Given the description of an element on the screen output the (x, y) to click on. 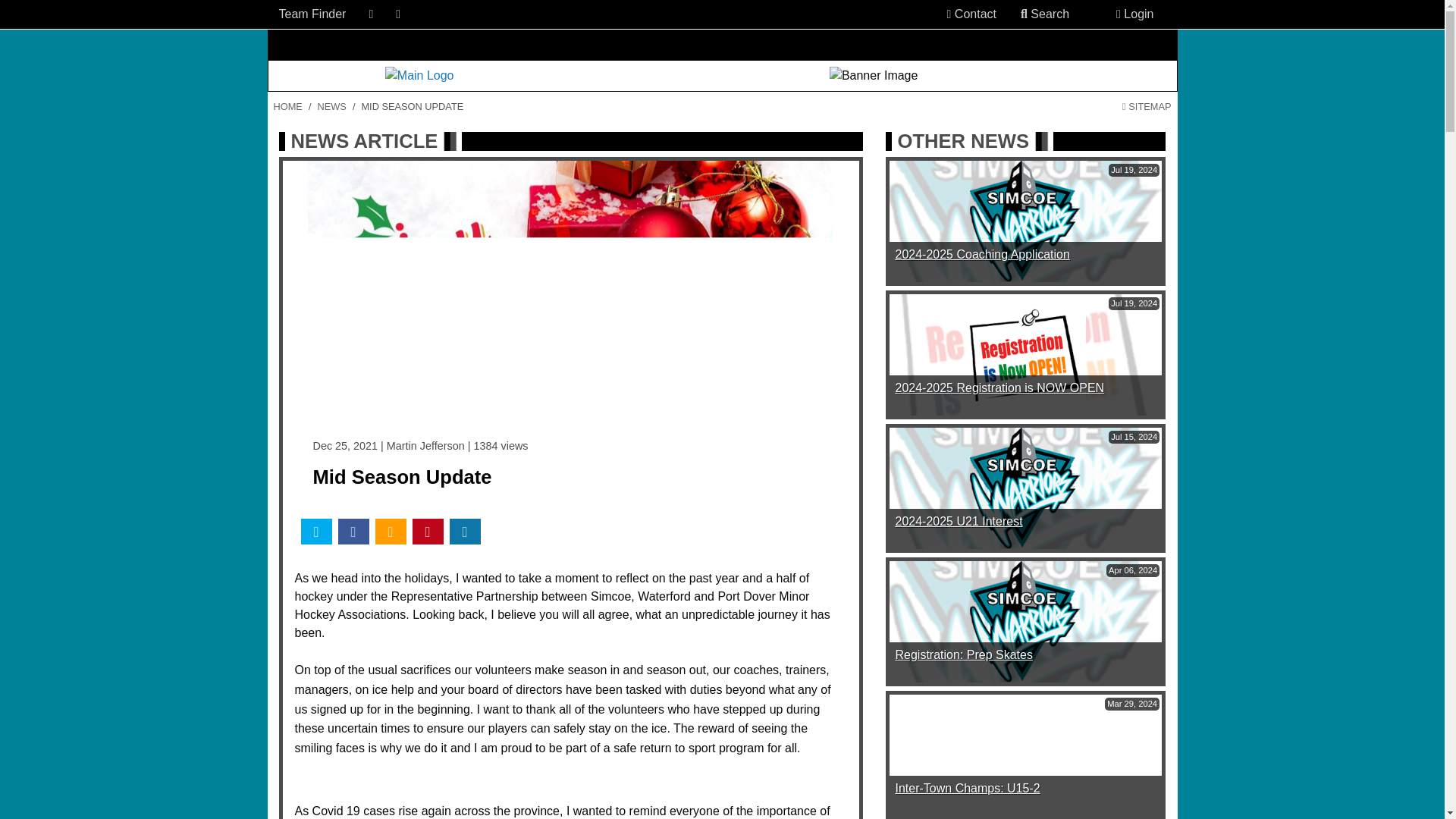
 Login (1134, 14)
Team Finder (312, 13)
 Contact (971, 14)
 Search (1045, 14)
